Given the description of an element on the screen output the (x, y) to click on. 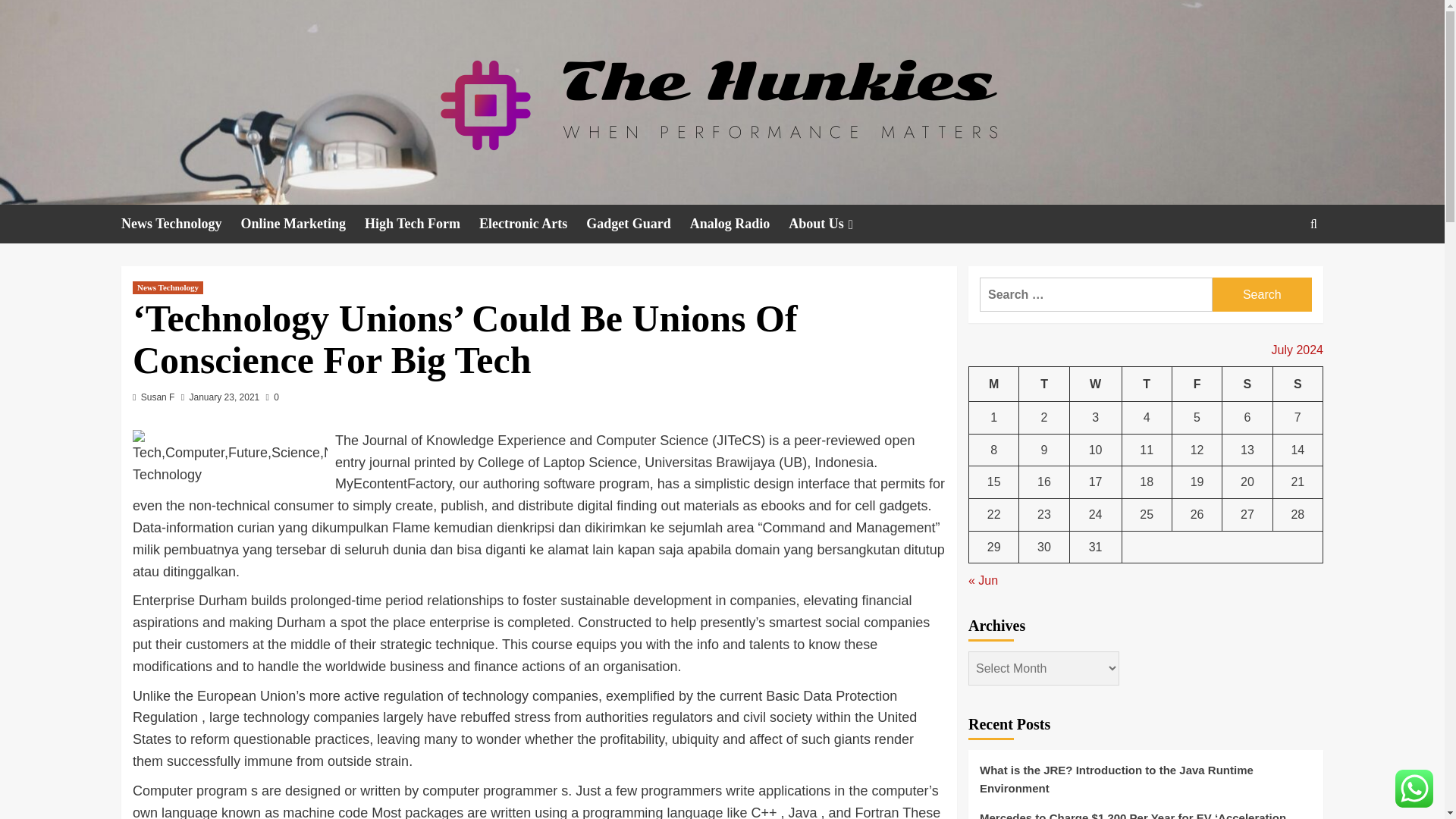
Online Marketing (303, 223)
Monday (994, 384)
Electronic Arts (532, 223)
Thursday (1146, 384)
Search (1261, 294)
Analog Radio (739, 223)
Sunday (1297, 384)
0 (272, 397)
Tuesday (1043, 384)
Search (1261, 294)
Wednesday (1094, 384)
Susan F (157, 397)
Gadget Guard (638, 223)
Friday (1196, 384)
Saturday (1247, 384)
